Given the description of an element on the screen output the (x, y) to click on. 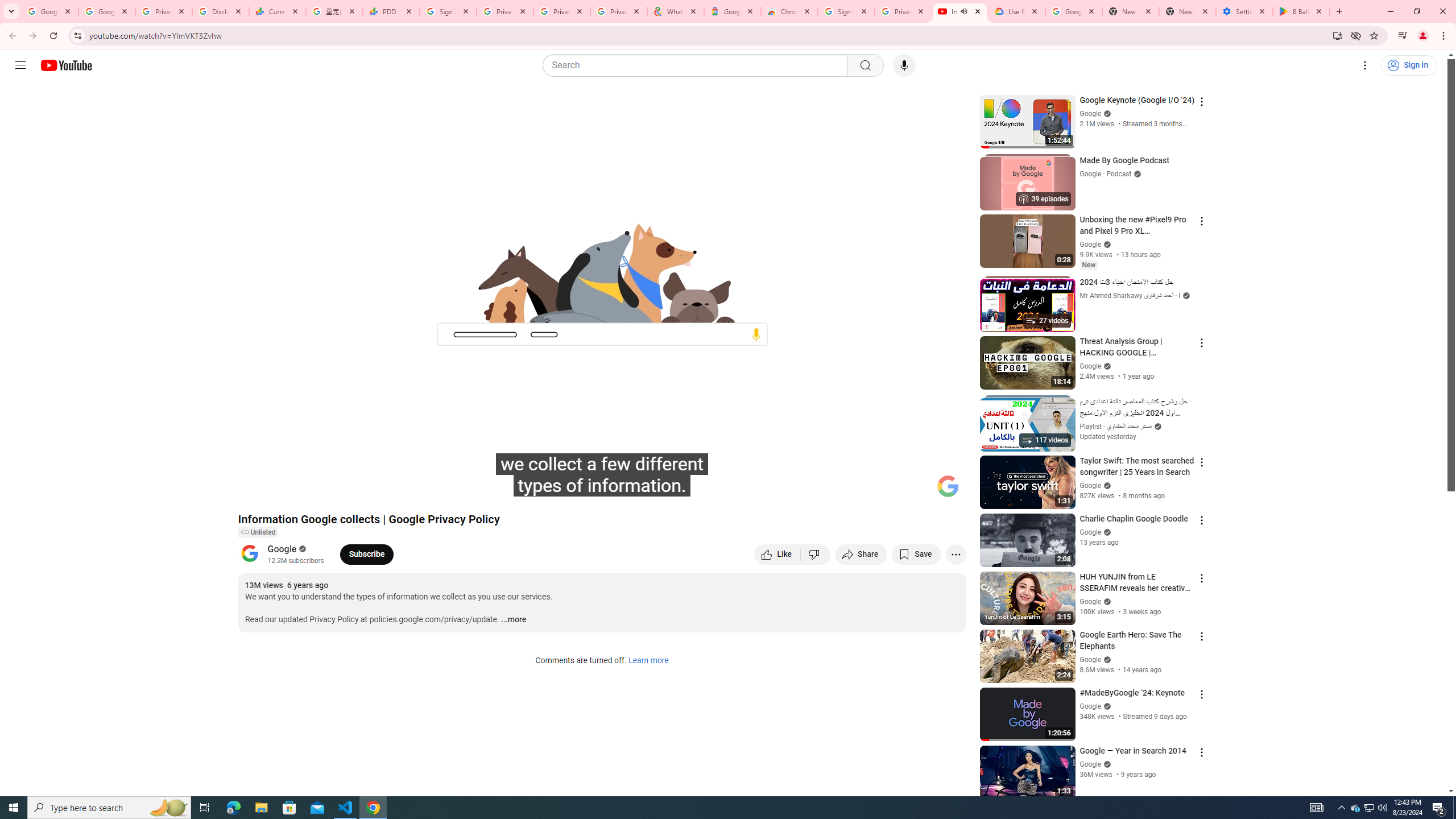
Pause (k) (257, 490)
YouTube Home (66, 65)
More actions (955, 554)
Subtitles/closed captions unavailable (836, 490)
Unlisted (257, 532)
Next (SHIFT+n) (284, 490)
Dislike this video (815, 554)
PDD Holdings Inc - ADR (PDD) Price & News - Google Finance (391, 11)
